Given the description of an element on the screen output the (x, y) to click on. 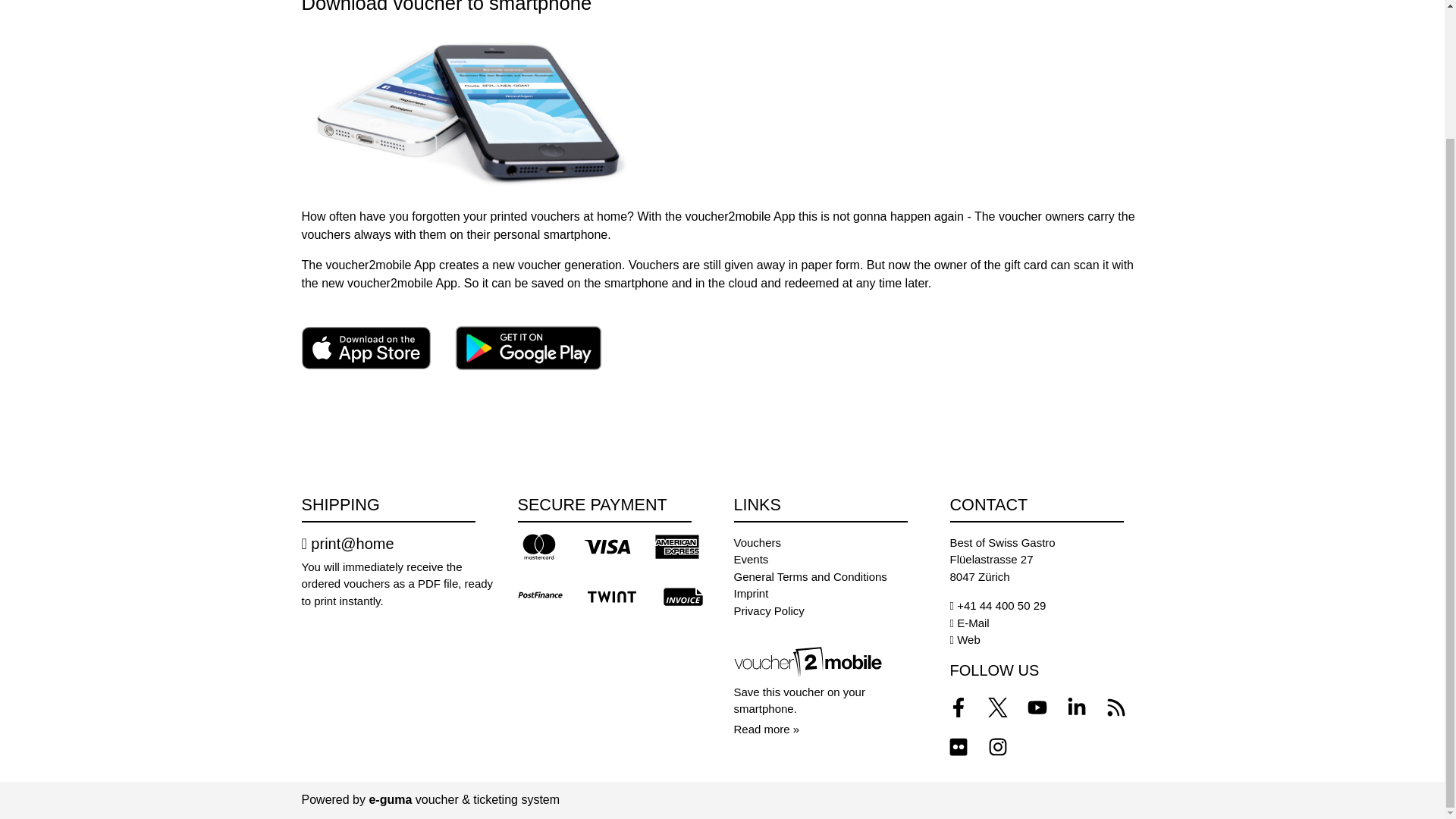
Flickr (958, 746)
RSS (1115, 707)
Vouchers (757, 542)
Twitter (997, 707)
Facebook (958, 707)
LinkedIn (1075, 707)
Youtube (1036, 707)
Privacy Policy (769, 610)
Imprint (750, 593)
Instagram (997, 746)
E-Mail (973, 622)
Web (967, 639)
General Terms and Conditions (809, 576)
Events (750, 558)
